Given the description of an element on the screen output the (x, y) to click on. 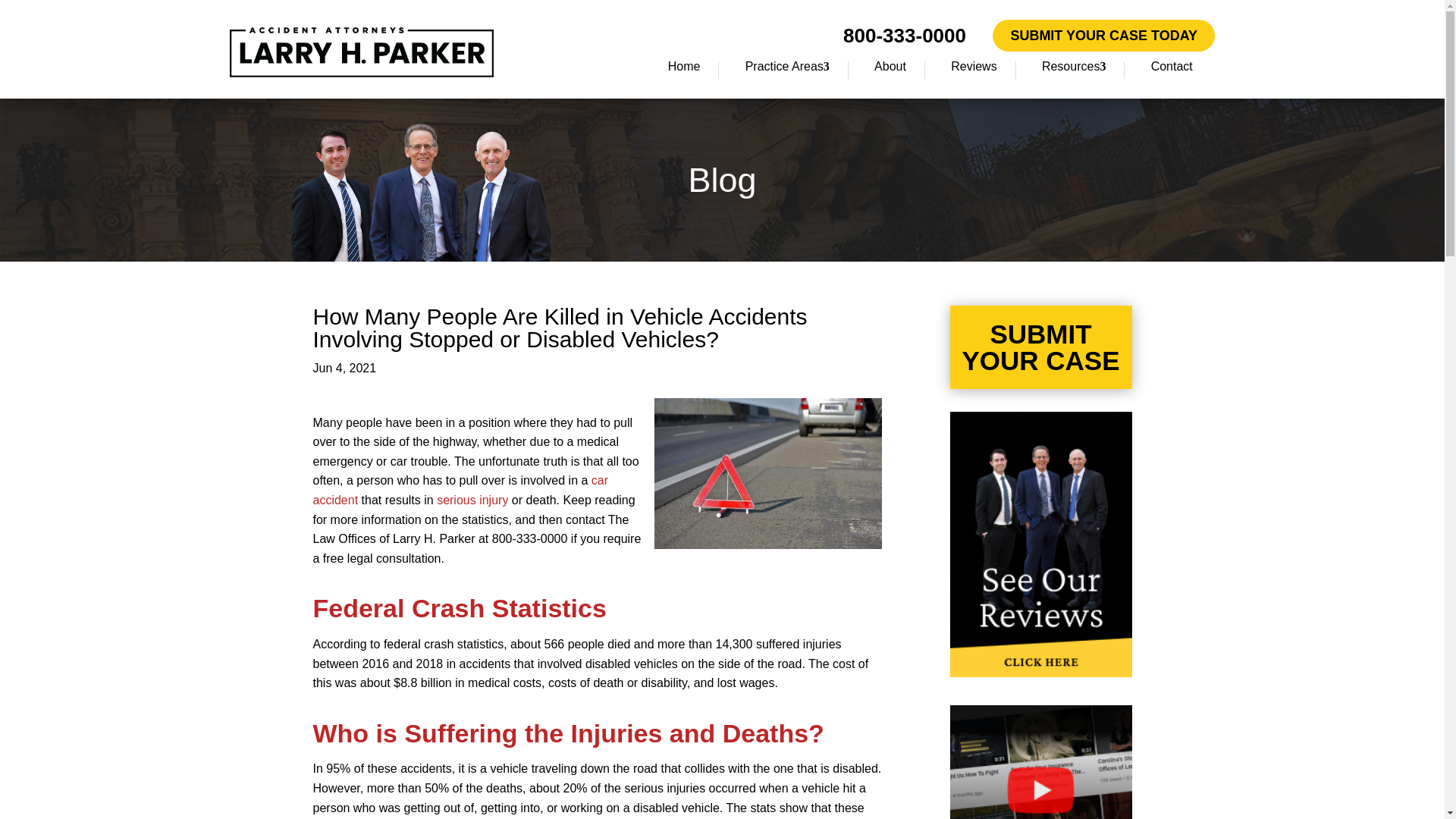
submit your case today (1103, 35)
Car Accident (472, 499)
Home (684, 70)
SUBMIT YOUR CASE TODAY (1103, 35)
Practice Areas (787, 70)
Car Accident (460, 490)
